Given the description of an element on the screen output the (x, y) to click on. 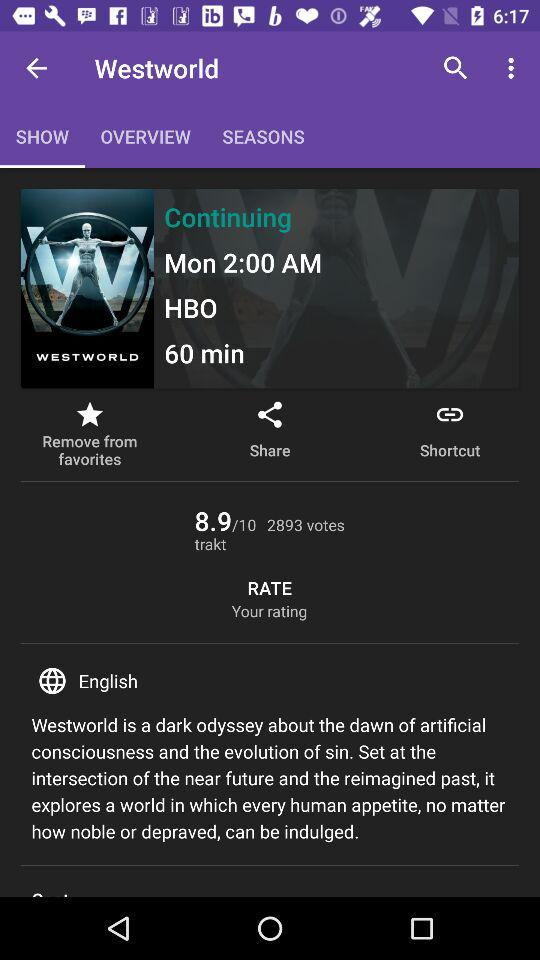
tap icon next to share (450, 434)
